Given the description of an element on the screen output the (x, y) to click on. 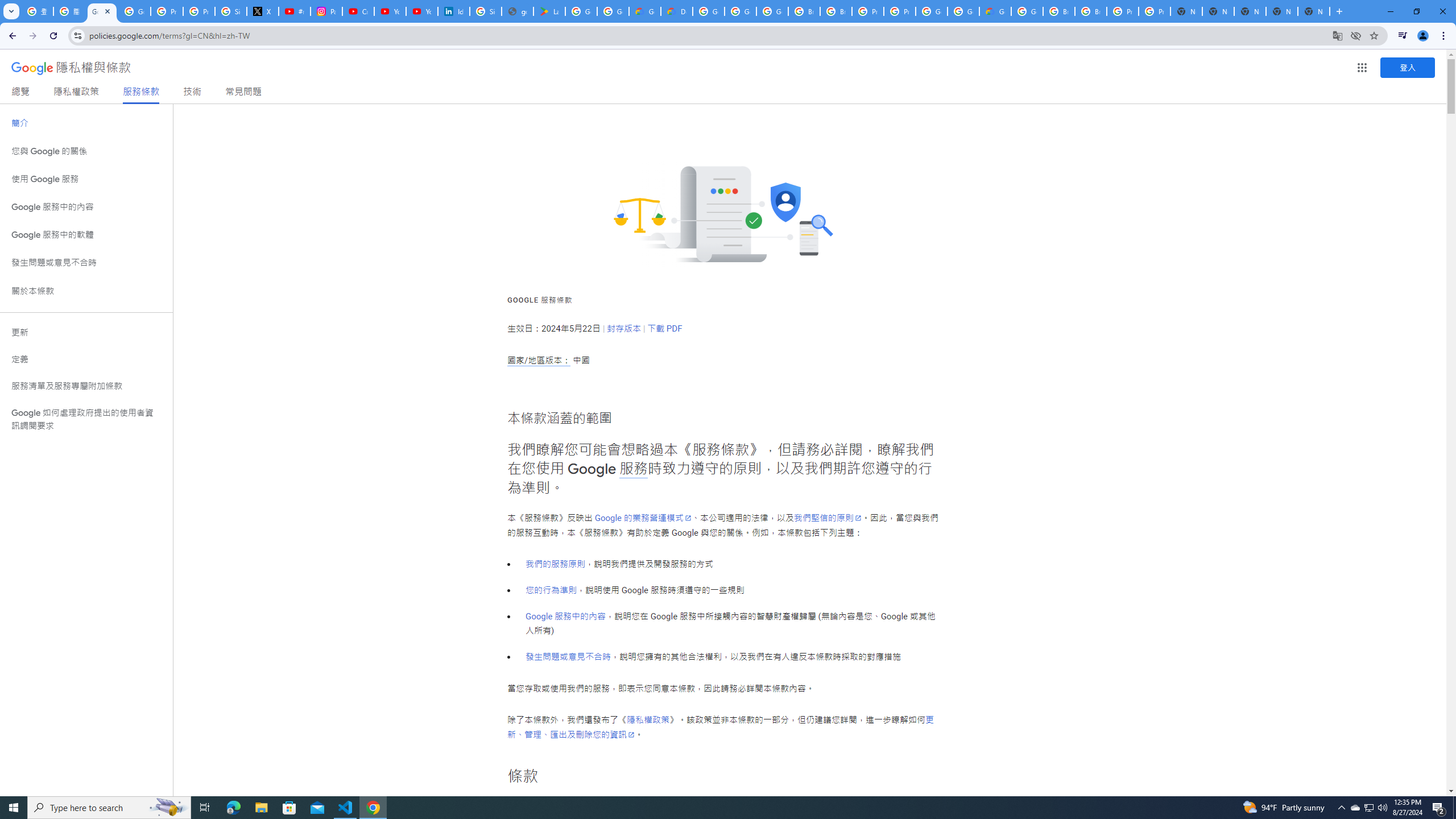
Google Cloud Platform (931, 11)
Google Cloud Estimate Summary (995, 11)
